Given the description of an element on the screen output the (x, y) to click on. 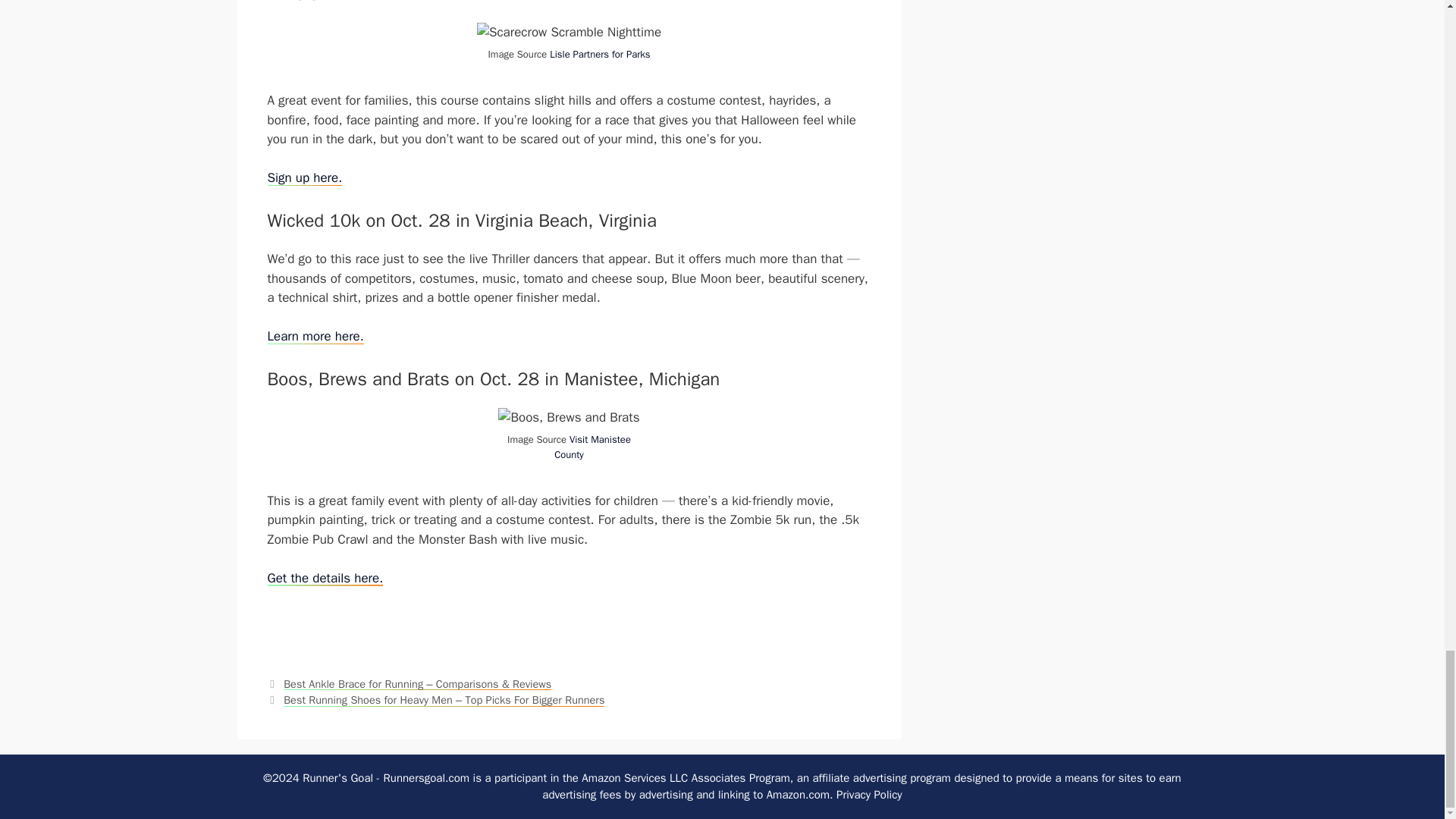
Sign up here. (304, 177)
Lisle Partners for Parks (599, 53)
Visit Manistee County (592, 447)
Get the details here. (324, 578)
Learn more here. (314, 335)
